Given the description of an element on the screen output the (x, y) to click on. 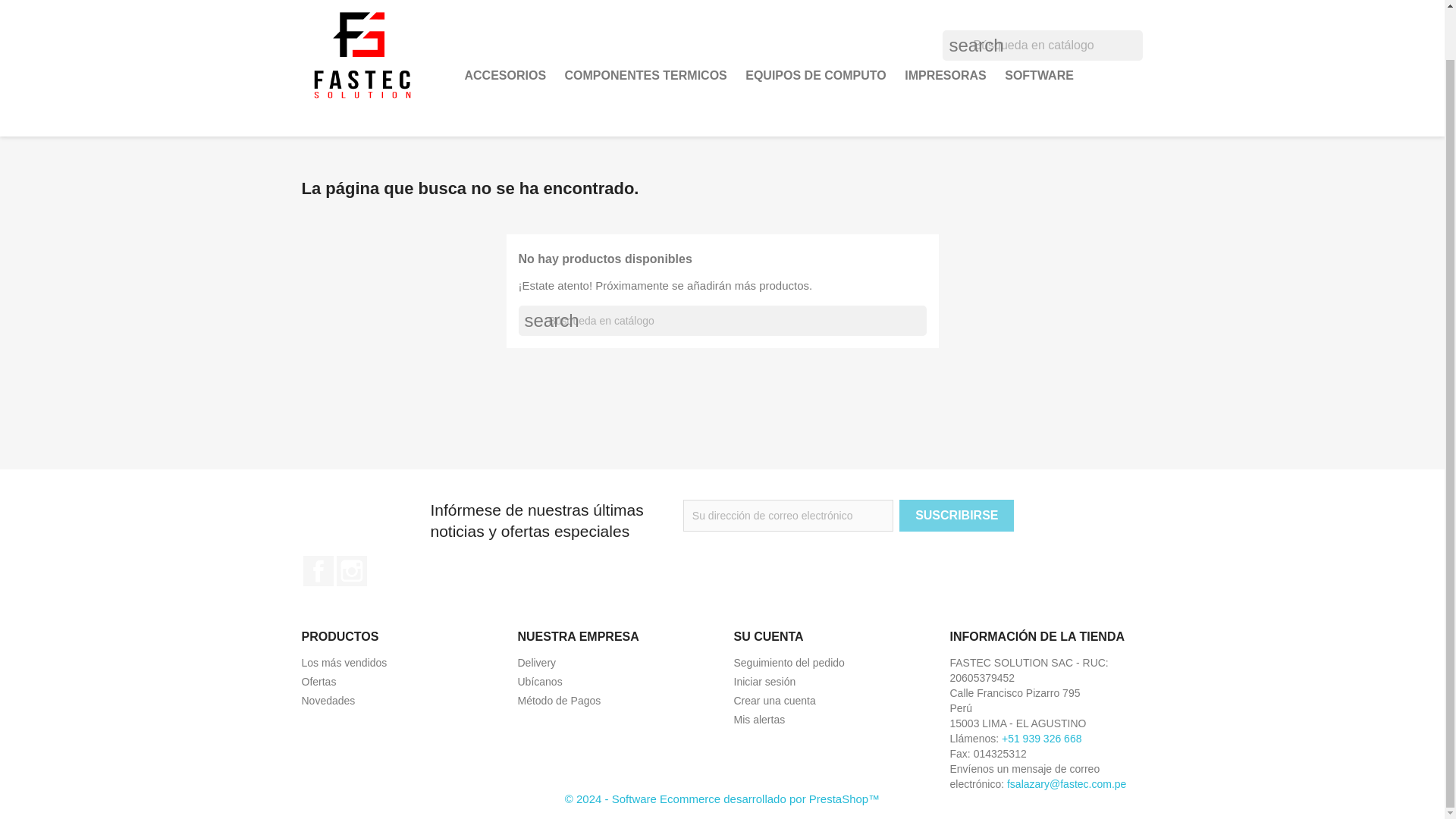
Crear una cuenta (774, 700)
Delivery (536, 662)
Novedades (328, 700)
Suscribirse (956, 515)
EQUIPOS DE COMPUTO (815, 75)
ACCESORIOS (505, 75)
Nuestros productos especiales (318, 681)
Acceda a su cuenta de cliente (764, 681)
Ofertas (318, 681)
Facebook (317, 571)
